Given the description of an element on the screen output the (x, y) to click on. 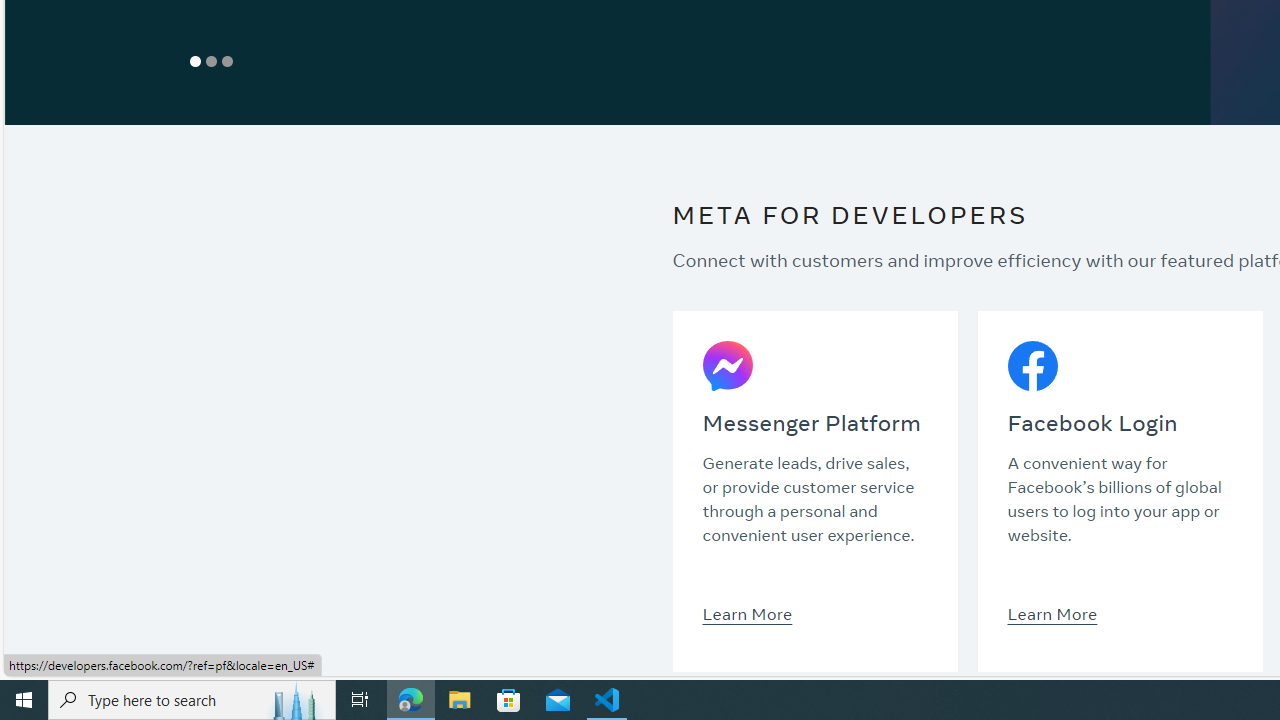
Show Slide 1 (194, 61)
Learn More (1052, 613)
Show Slide 2 (210, 61)
Show Slide 3 (226, 61)
